Given the description of an element on the screen output the (x, y) to click on. 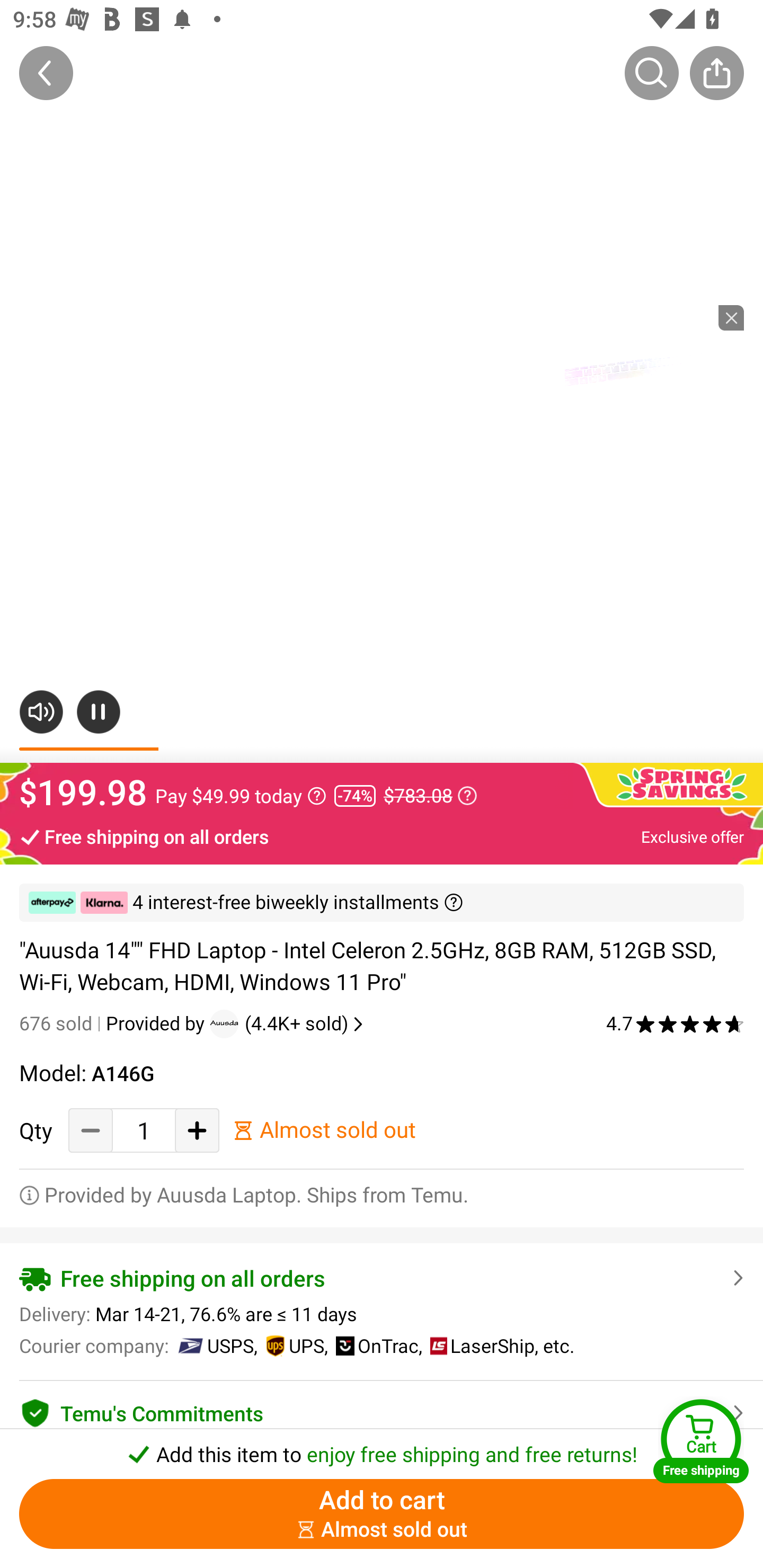
Back (46, 72)
Share (716, 72)
tronplayer_view (631, 368)
Pay $49.99 today   (240, 795)
Free shipping on all orders Exclusive offer (381, 836)
￼ ￼ 4 interest-free biweekly installments ￼ (381, 902)
676 sold Provided by  (114, 1023)
4.7 (674, 1023)
Decrease Quantity Button (90, 1130)
1 (143, 1130)
Add Quantity button (196, 1130)
Temu's Commitments (381, 1410)
Cart Free shipping Cart (701, 1440)
Add to cart ￼￼Almost sold out (381, 1513)
